Given the description of an element on the screen output the (x, y) to click on. 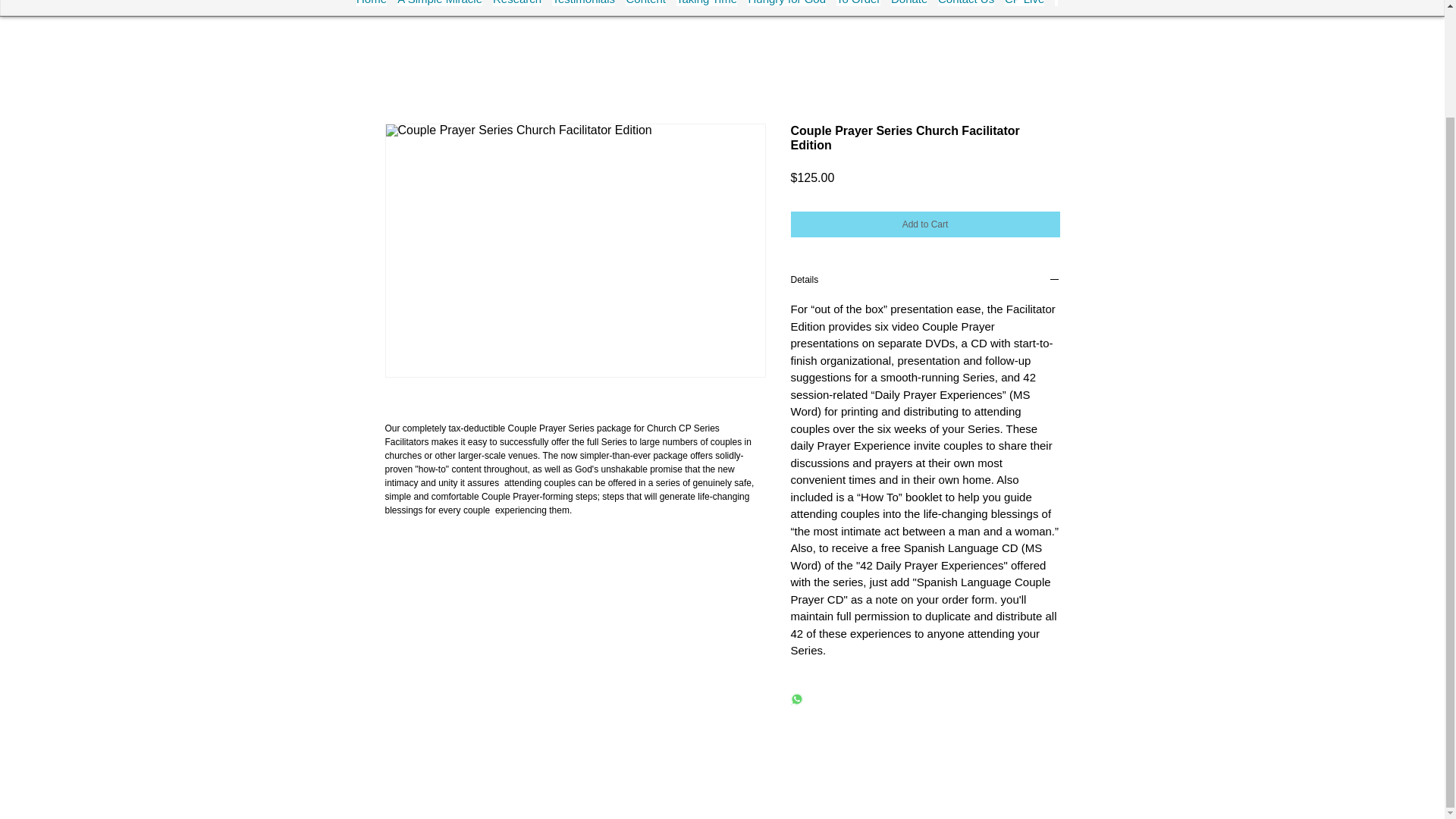
Hungry for God (786, 2)
Donate (909, 2)
Testimonials (582, 2)
To Order (857, 2)
Taking Time (706, 2)
Home (371, 2)
Research (517, 2)
Details (924, 281)
Contact Us (965, 2)
Content (645, 2)
